Given the description of an element on the screen output the (x, y) to click on. 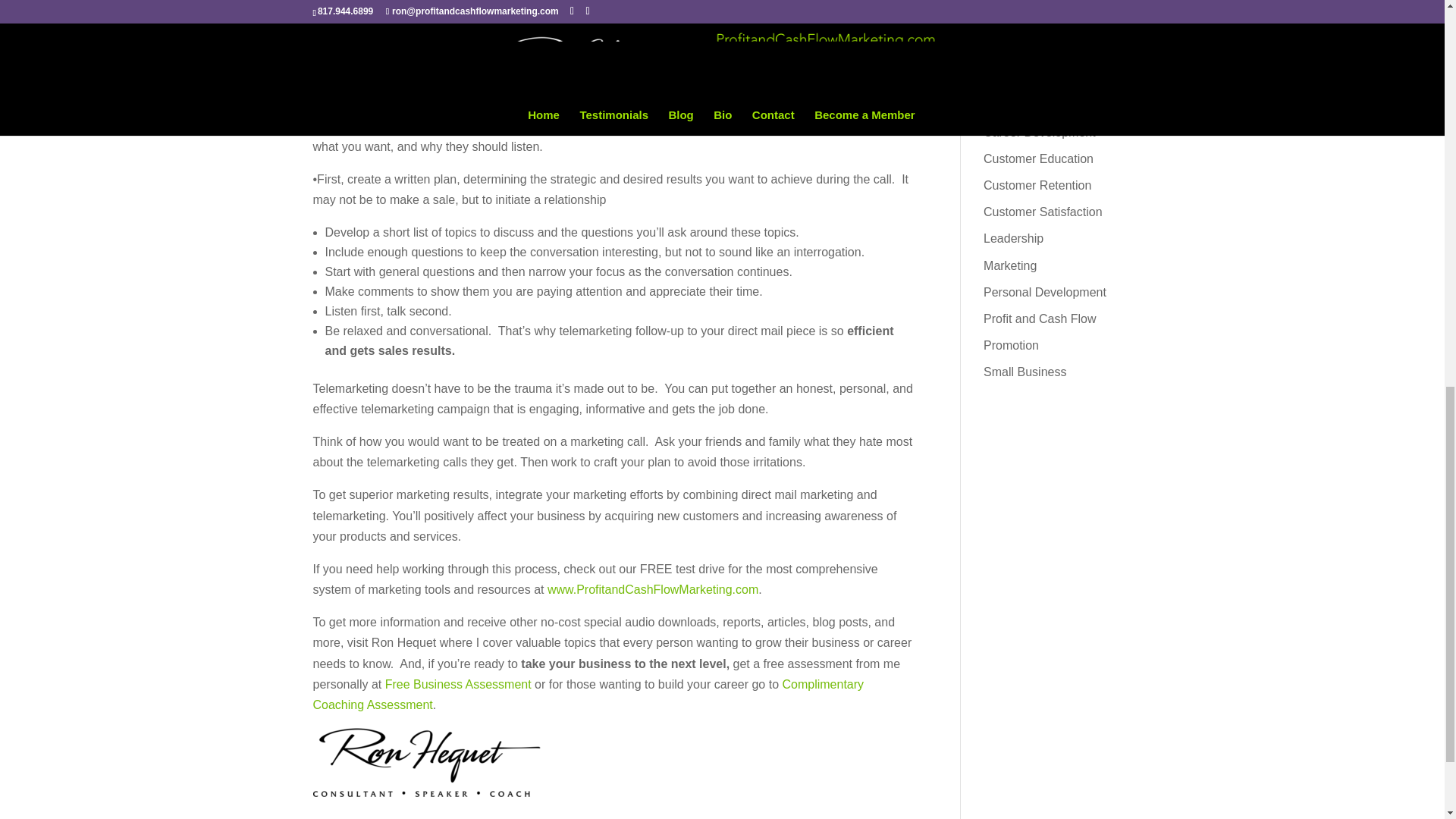
Business Development (1038, 2)
Career Development (1032, 46)
Business Planning (1027, 23)
Customer Education (1032, 70)
www.ProfitandCashFlowMarketing.com (512, 527)
Free Business Assessment (815, 592)
Complimentary Coaching Assessment (591, 610)
